Given the description of an element on the screen output the (x, y) to click on. 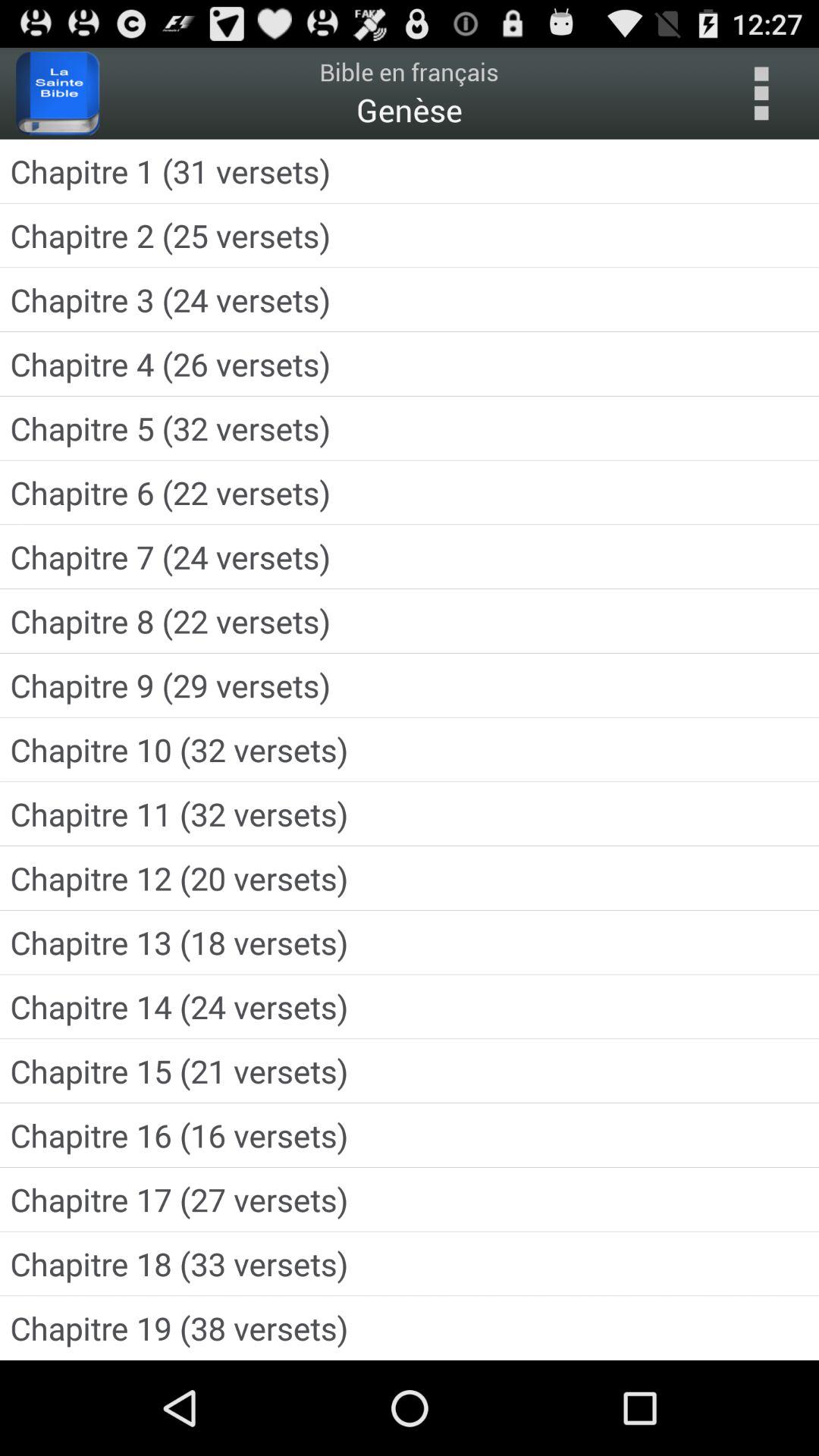
choose icon above the chapitre 1 31 icon (57, 93)
